Given the description of an element on the screen output the (x, y) to click on. 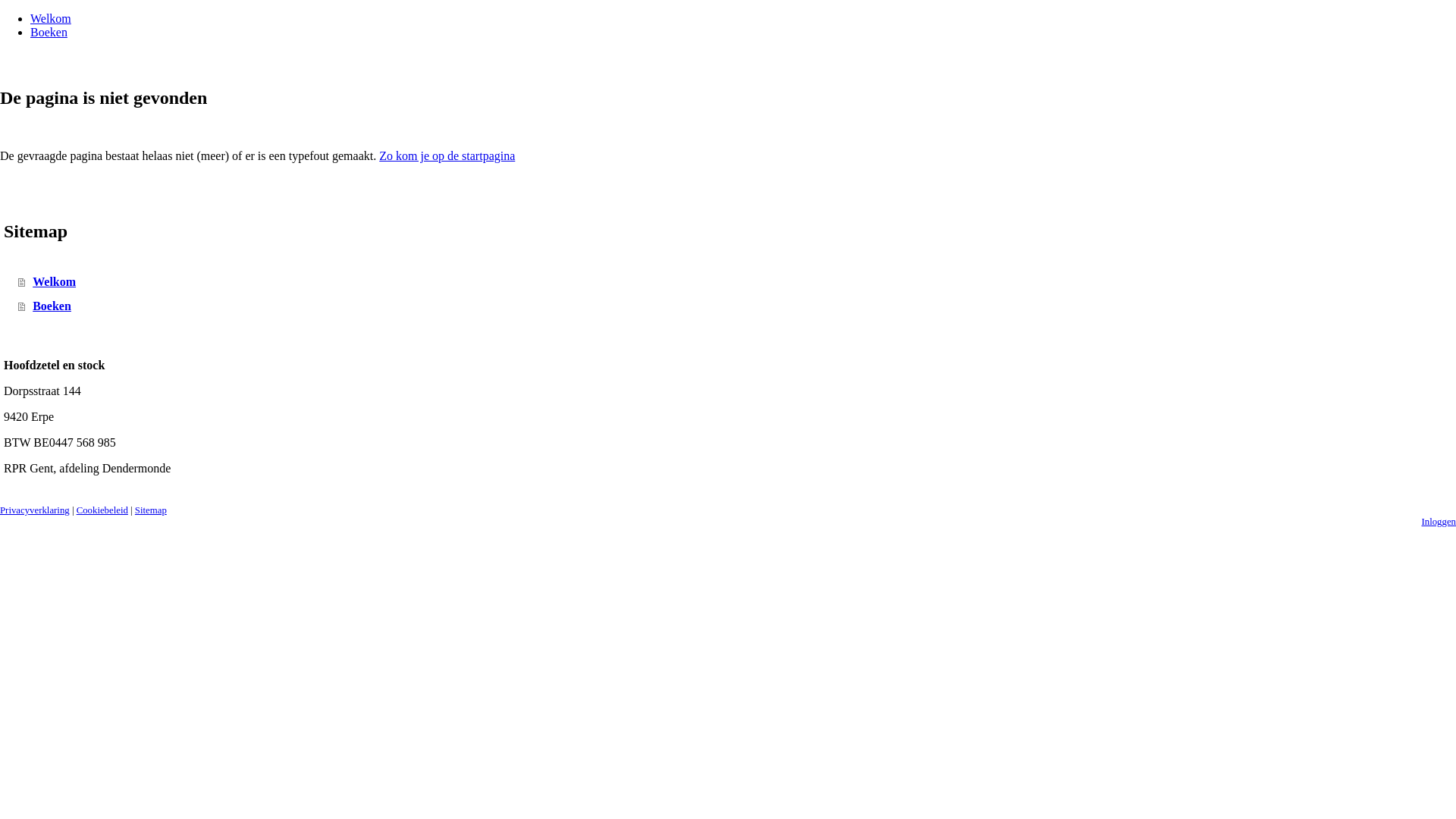
Zo kom je op de startpagina Element type: text (446, 155)
Cookiebeleid Element type: text (102, 510)
Boeken Element type: text (48, 31)
Welkom Element type: text (50, 18)
Sitemap Element type: text (150, 510)
Privacyverklaring Element type: text (34, 510)
